Given the description of an element on the screen output the (x, y) to click on. 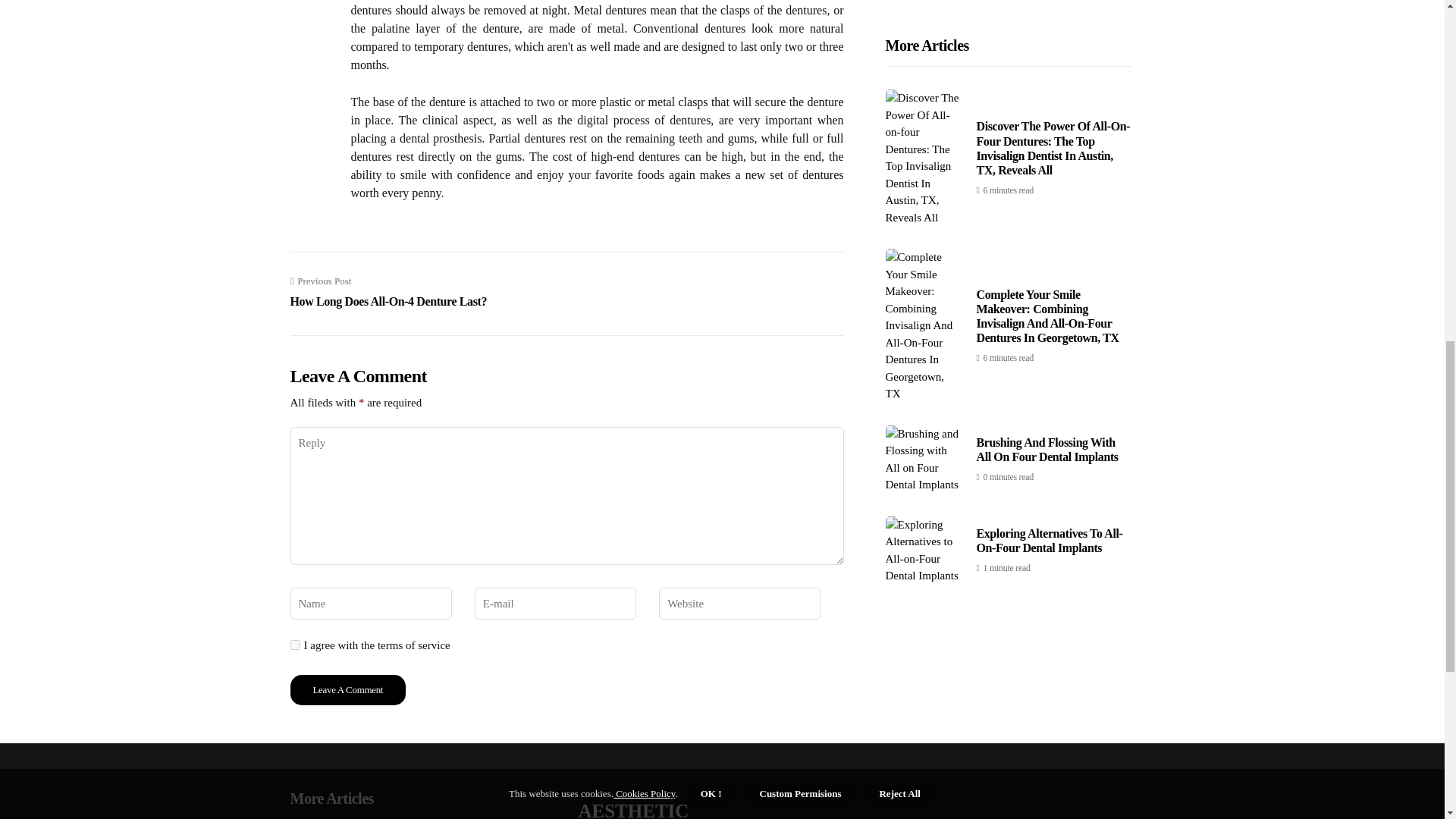
Leave a Comment (347, 689)
Leave a Comment (347, 689)
yes (294, 644)
